Given the description of an element on the screen output the (x, y) to click on. 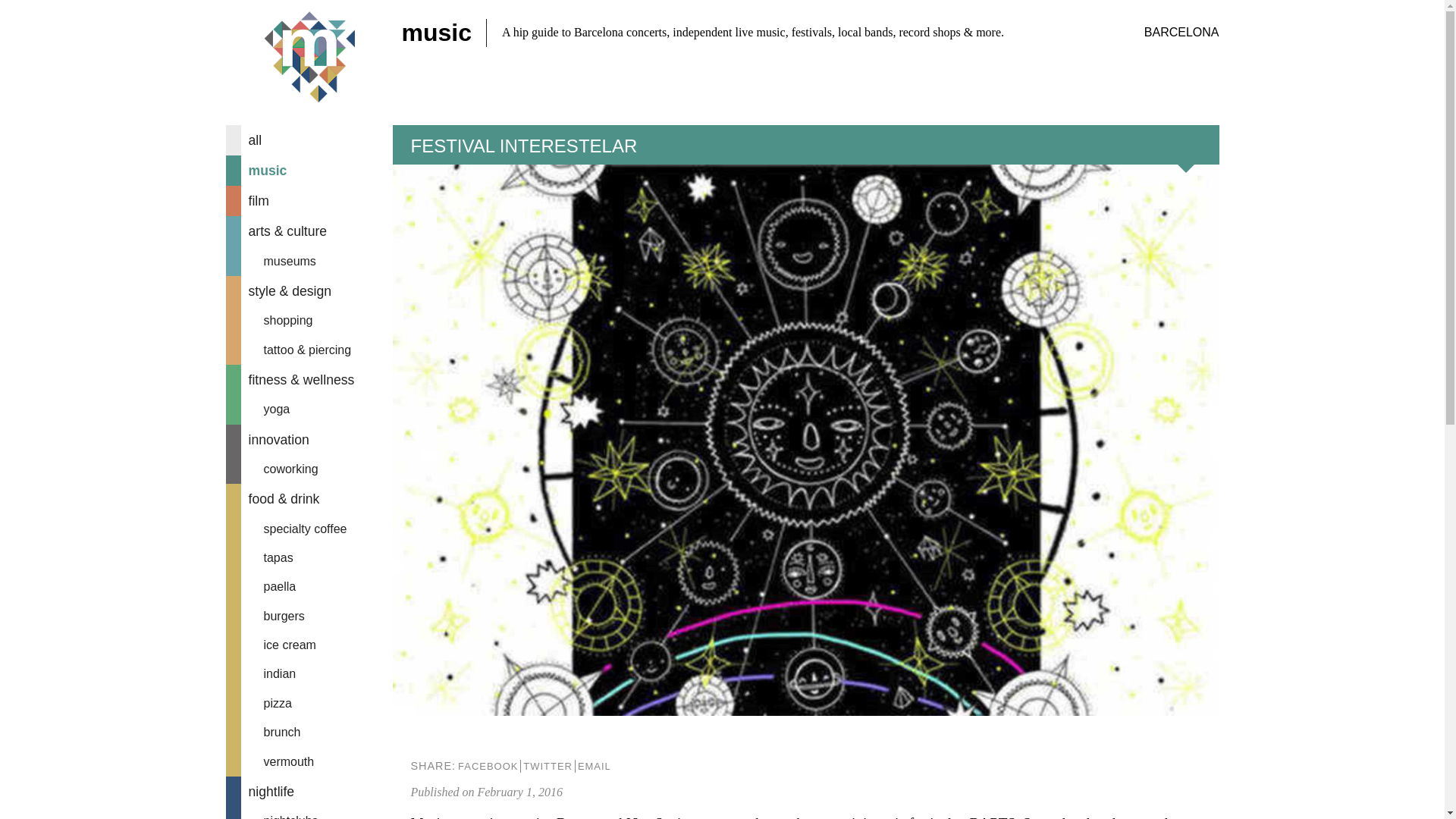
film (309, 200)
pizza (309, 703)
coworking (309, 469)
ice cream (309, 645)
paella (309, 586)
nightlife (309, 791)
brunch (309, 732)
Miniguide (309, 58)
tapas (309, 557)
specialty coffee (309, 528)
TWITTER (547, 766)
EMAIL (593, 766)
all (309, 140)
nightclubs (309, 812)
indian (309, 674)
